Given the description of an element on the screen output the (x, y) to click on. 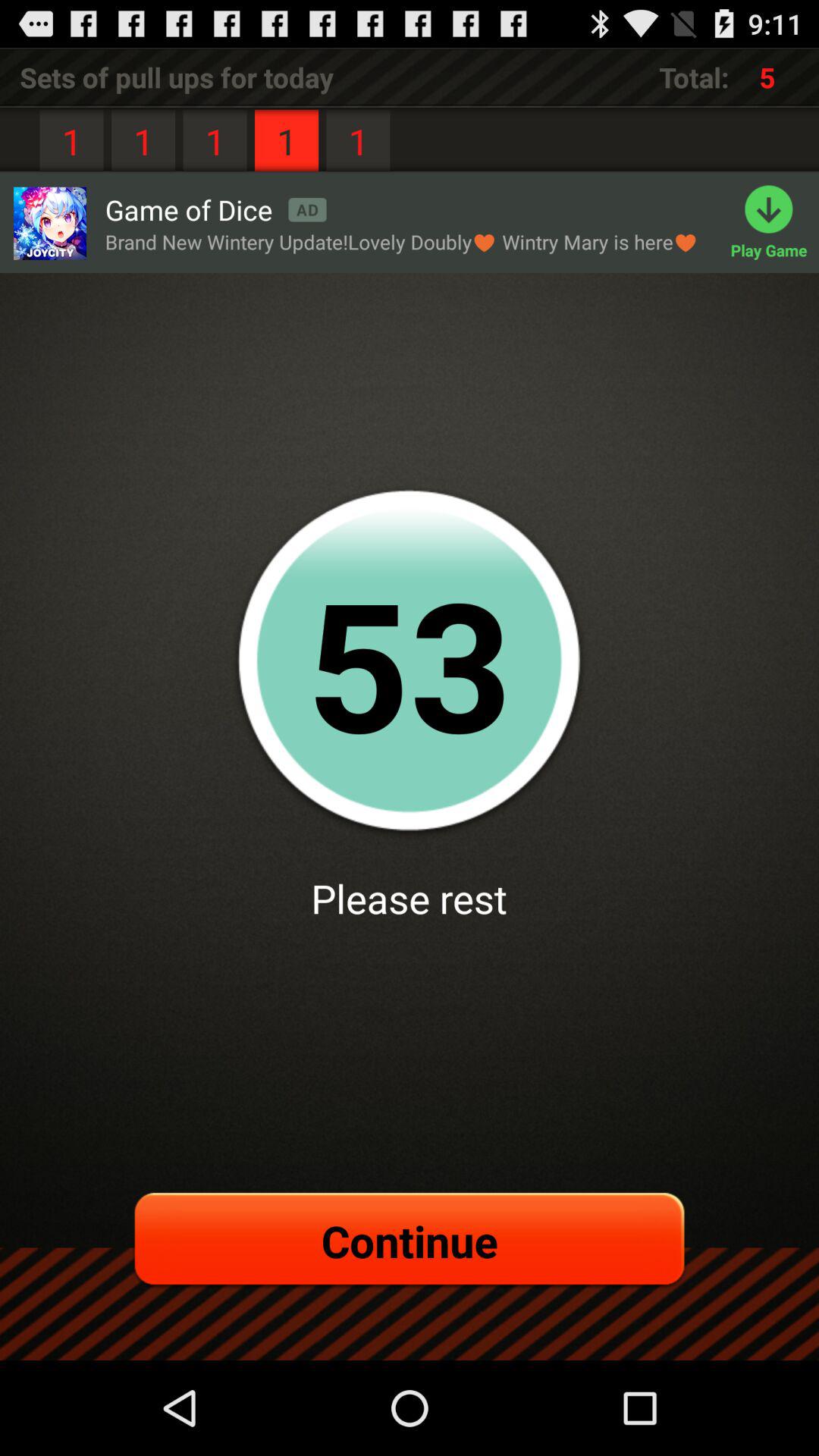
choose game of dice icon (215, 209)
